Given the description of an element on the screen output the (x, y) to click on. 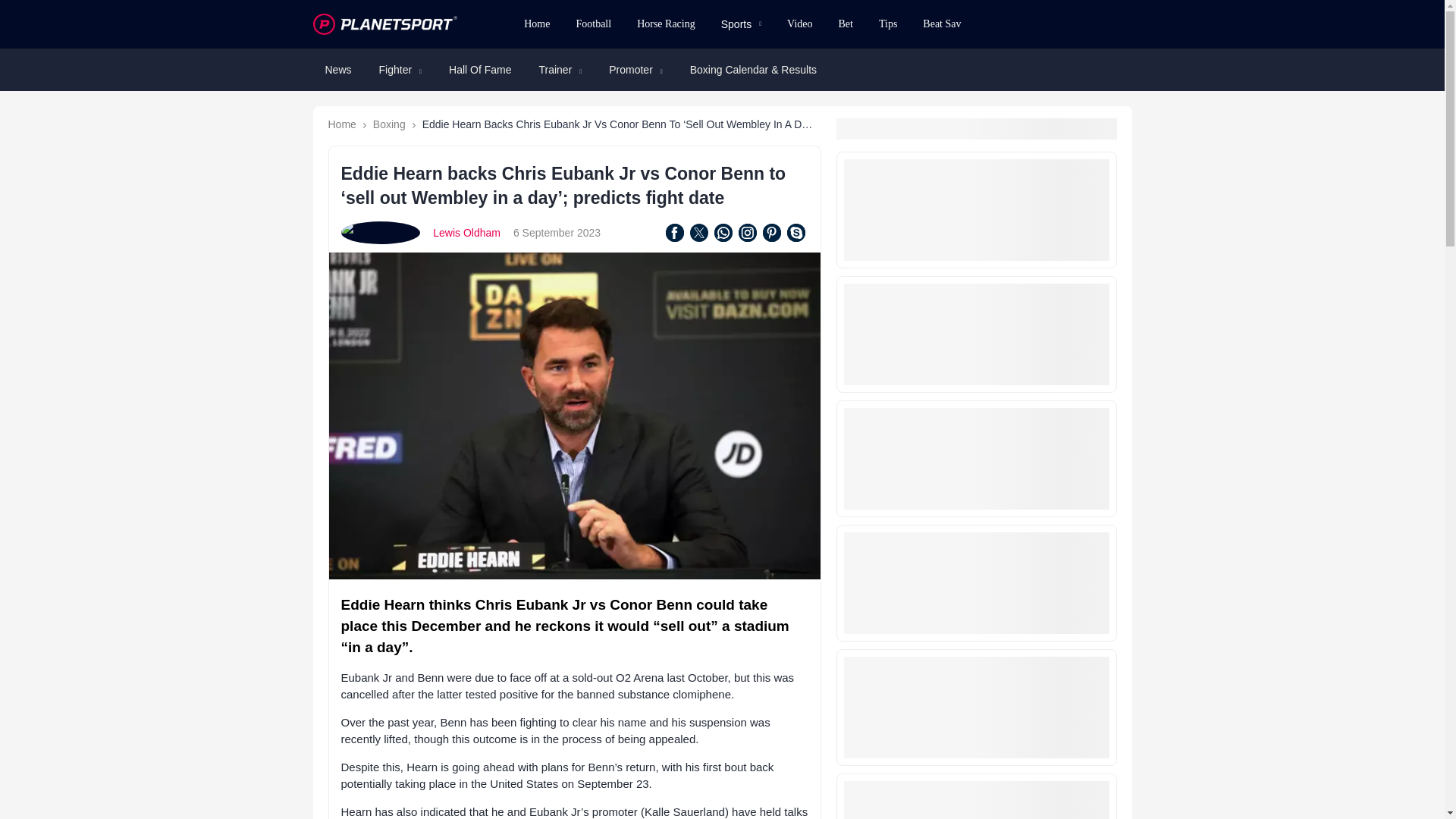
Video (799, 24)
News (337, 69)
Boxing (389, 123)
Hall Of Fame (479, 69)
Football (593, 24)
Lewis Oldham (466, 232)
Tips (888, 24)
Home (536, 24)
Horse Racing (665, 24)
Beat Sav (942, 24)
